Given the description of an element on the screen output the (x, y) to click on. 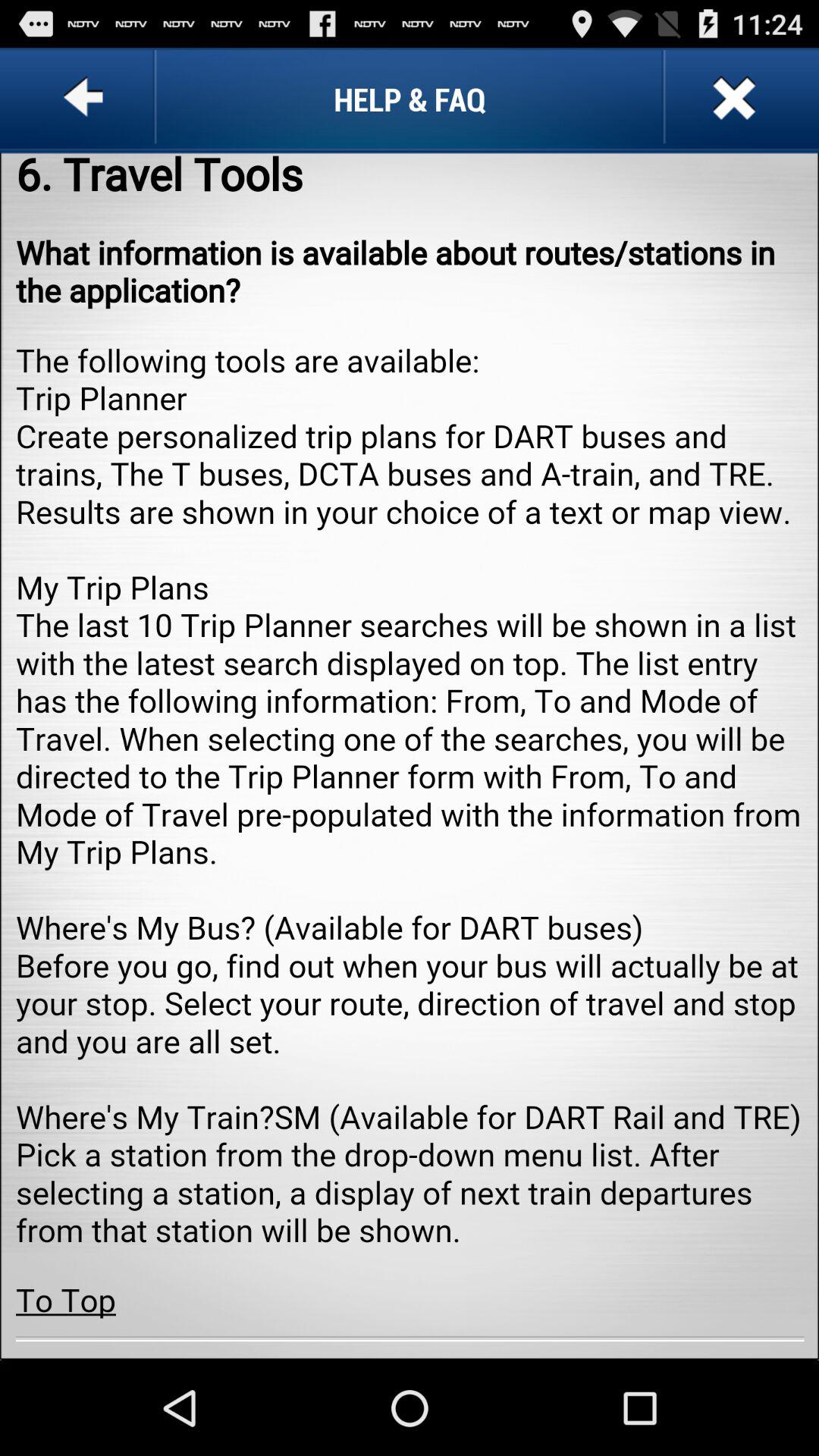
close window (732, 99)
